Given the description of an element on the screen output the (x, y) to click on. 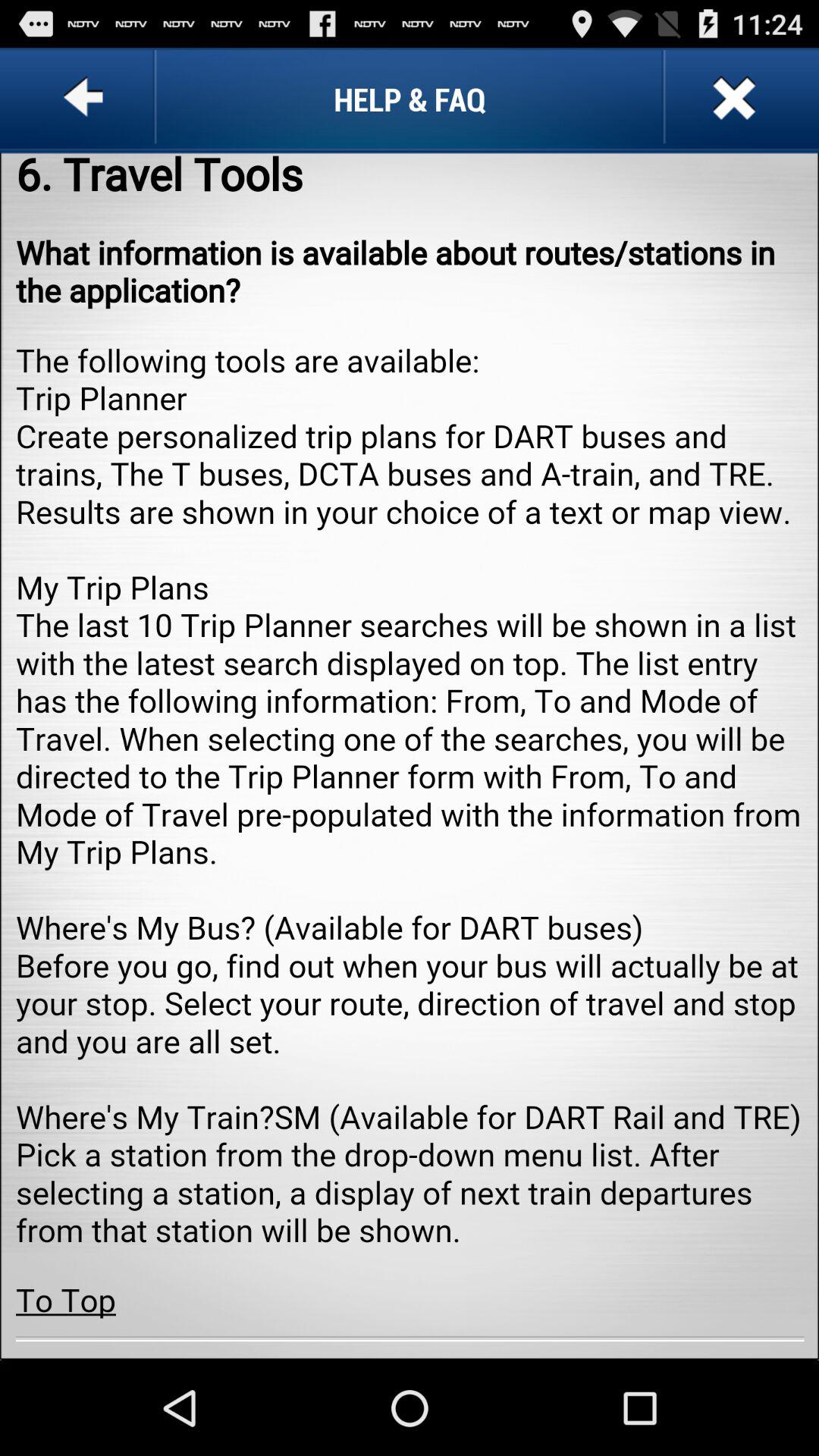
close window (732, 99)
